Given the description of an element on the screen output the (x, y) to click on. 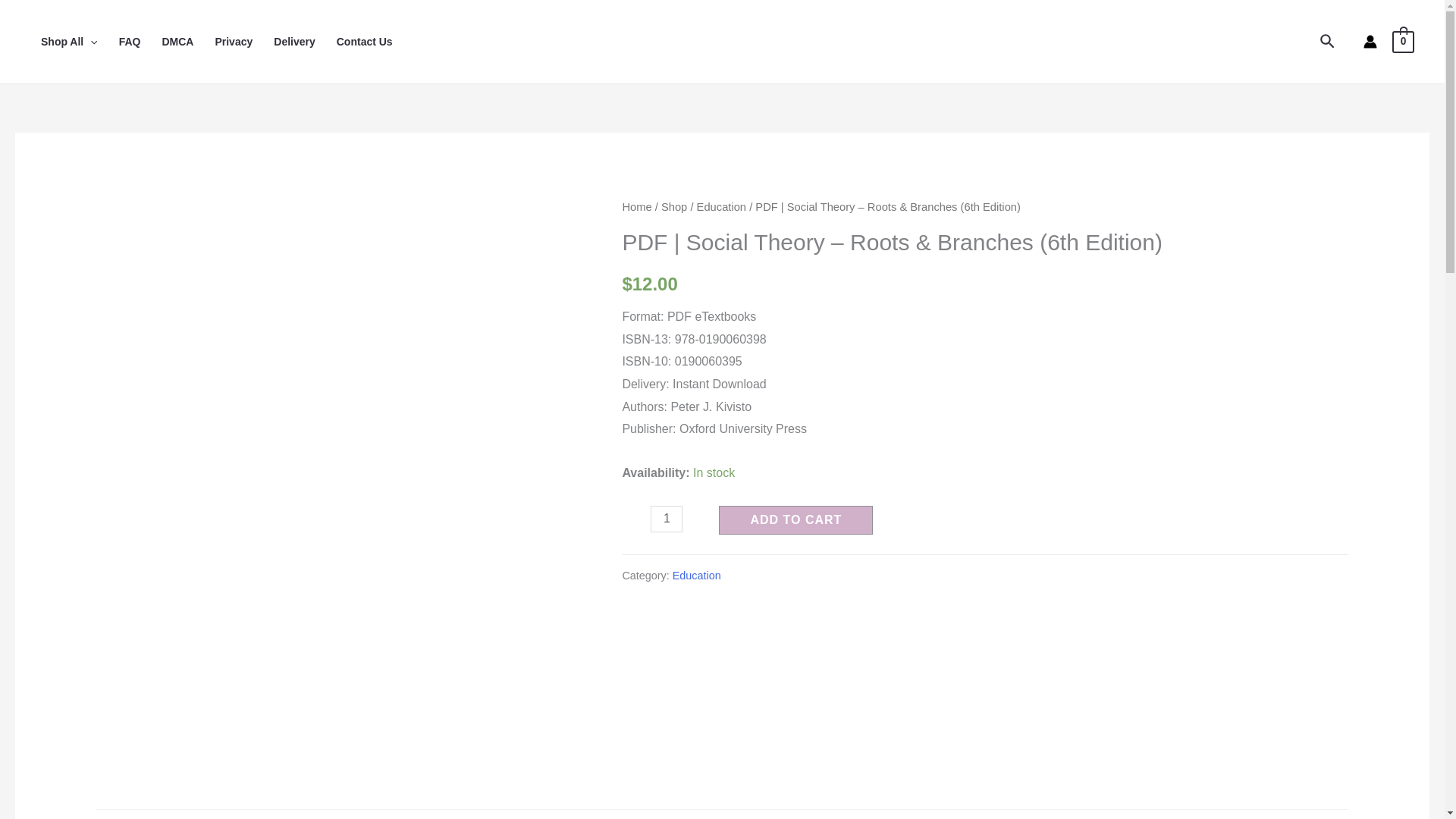
1 (666, 519)
Log In (670, 629)
Contact Us (364, 41)
0 (1402, 41)
Shop All (68, 41)
Qty (666, 519)
View your shopping cart (1402, 41)
